Given the description of an element on the screen output the (x, y) to click on. 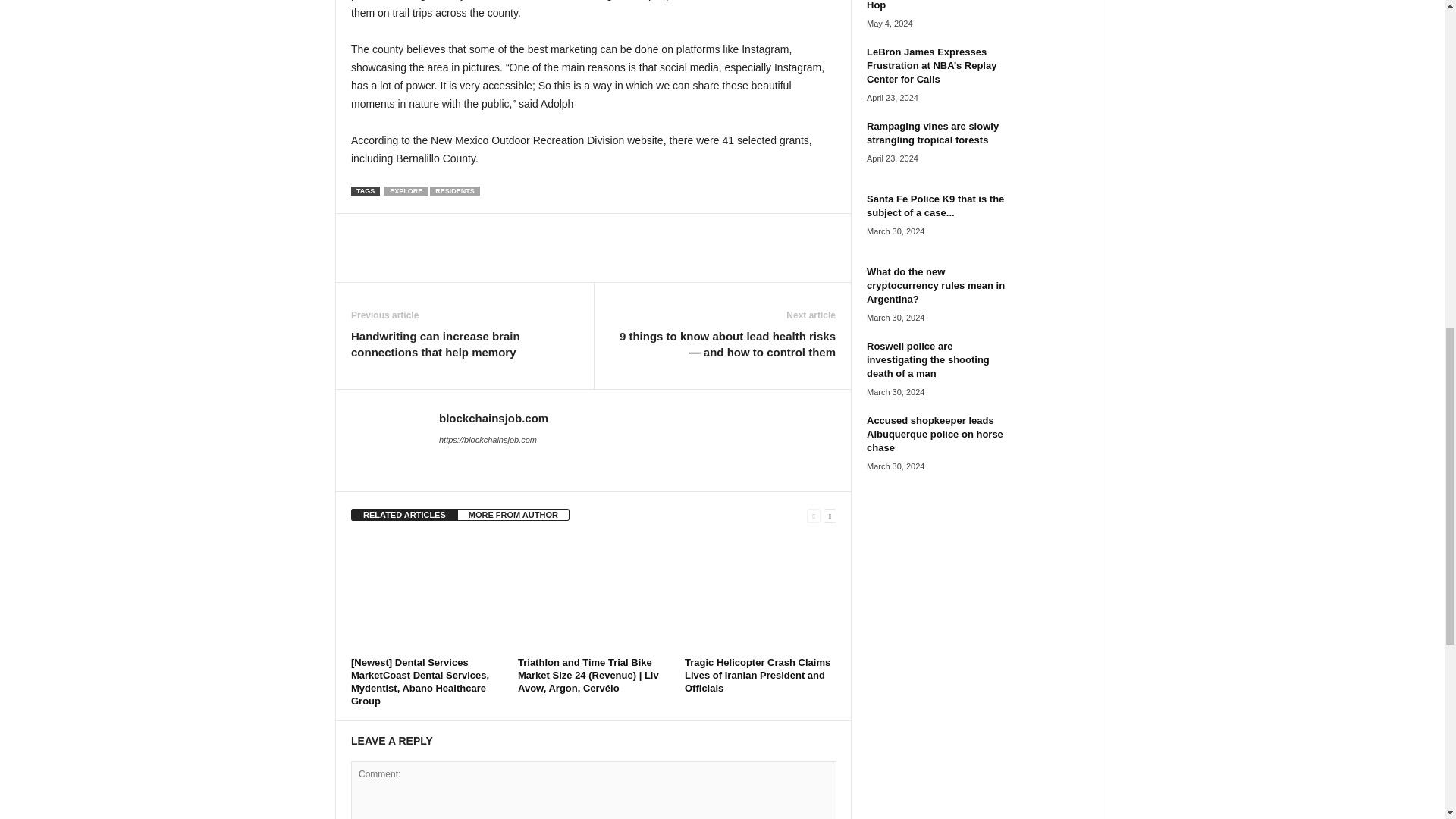
RESIDENTS (454, 190)
EXPLORE (406, 190)
RELATED ARTICLES (404, 514)
bottomFacebookLike (390, 229)
blockchainsjob.com (493, 418)
MORE FROM AUTHOR (513, 514)
Handwriting can increase brain connections that help memory (464, 344)
